Given the description of an element on the screen output the (x, y) to click on. 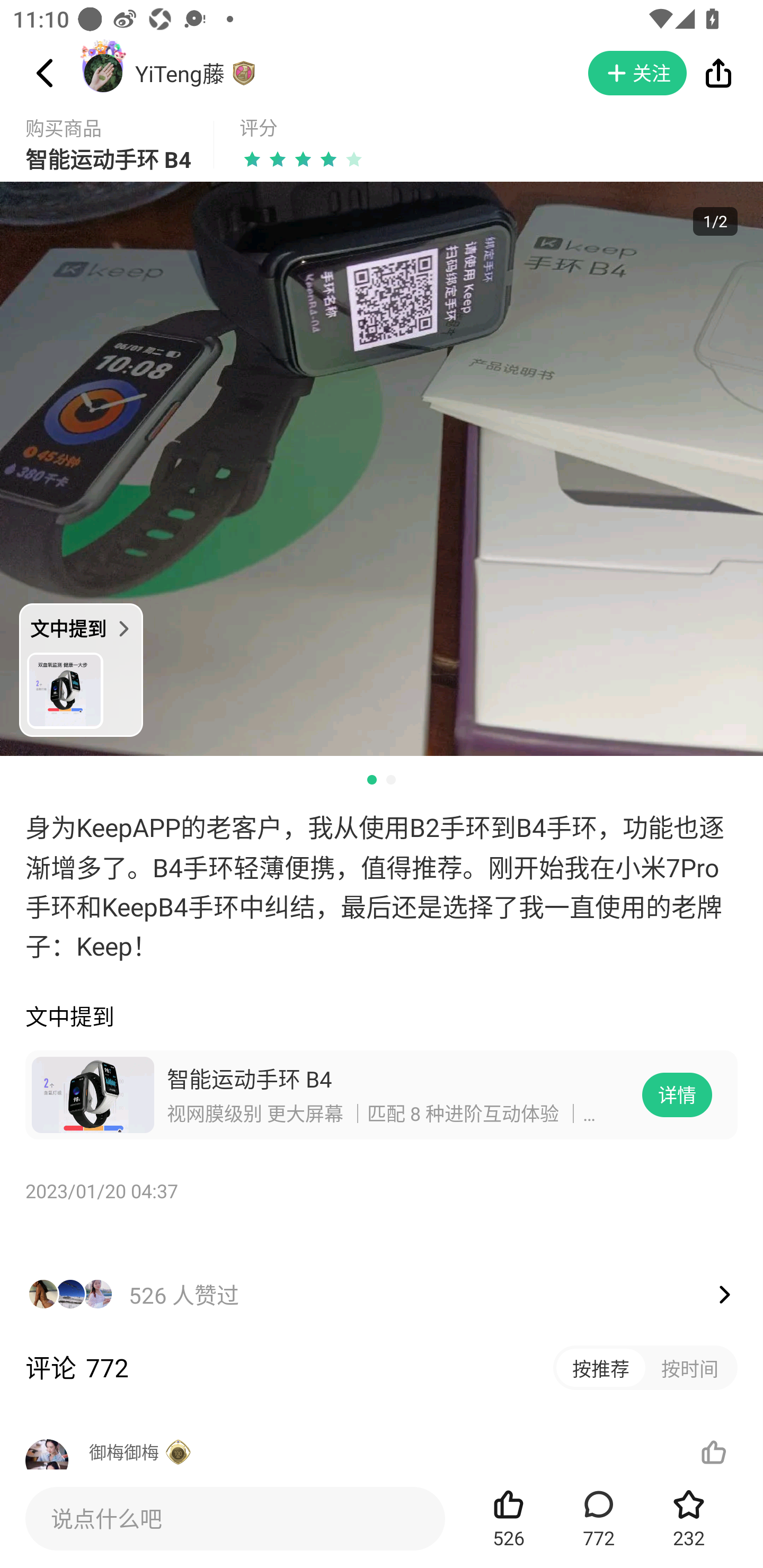
关注 (637, 72)
YiTeng藤 (179, 72)
购买商品 智能运动手环 B4 评分 8.0 (381, 144)
文中提到 (81, 669)
智能运动手环 B4 视网膜级别 更大屏幕 ｜匹配 8 种进阶互动体验 ｜精准心率 实时传输 详情 (381, 1094)
526 人赞过 (381, 1275)
按推荐 (600, 1367)
按时间 (689, 1367)
526 (508, 1518)
772 (598, 1518)
232 (688, 1518)
说点什么吧 (234, 1518)
